Given the description of an element on the screen output the (x, y) to click on. 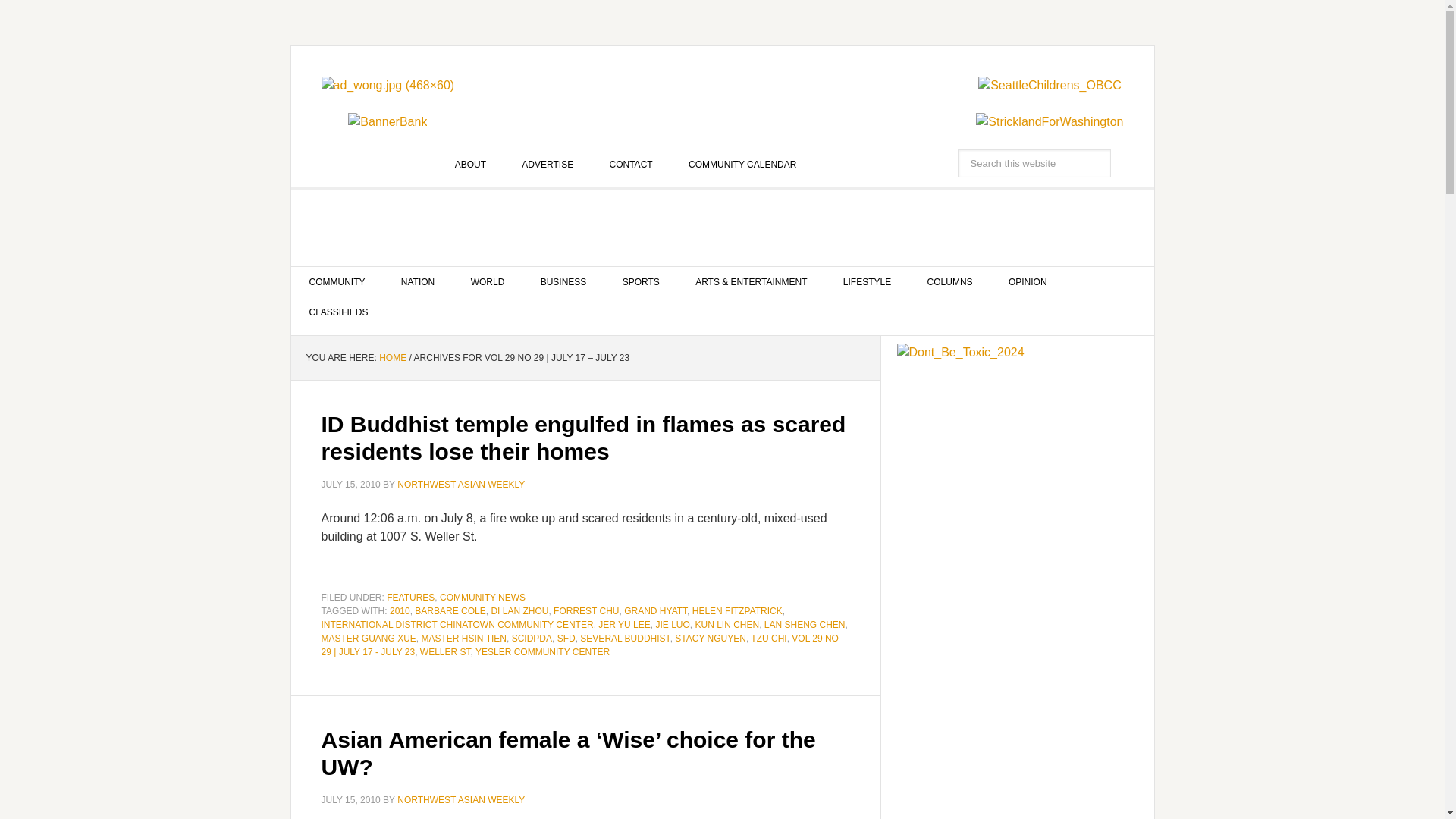
COMMUNITY CALENDAR (741, 164)
HOME (392, 357)
BUSINESS (563, 281)
COMMUNITY (337, 281)
ABOUT (469, 164)
WORLD (487, 281)
NORTHWEST ASIAN WEEKLY (722, 227)
LIFESTYLE (866, 281)
